Given the description of an element on the screen output the (x, y) to click on. 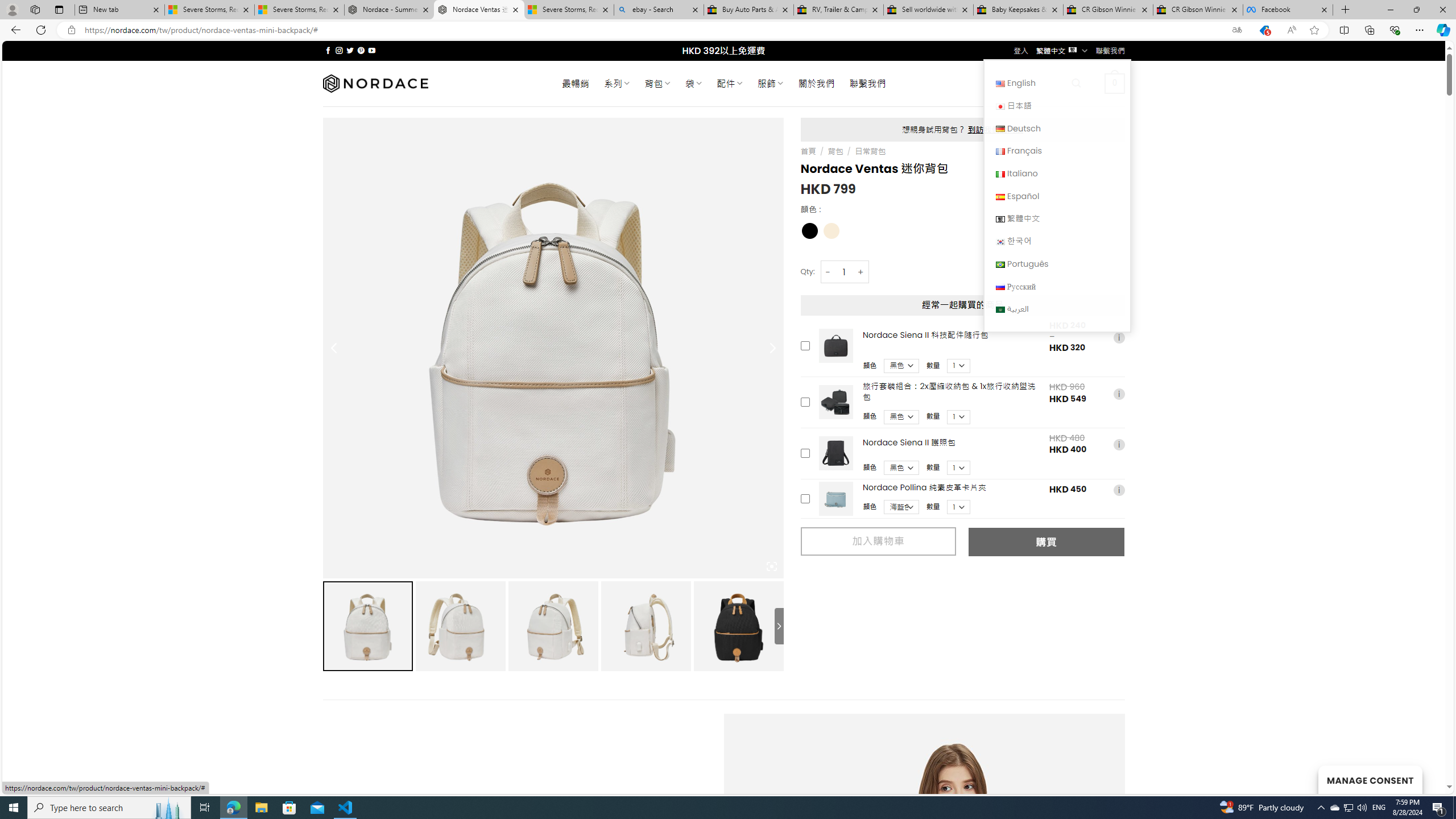
 0  (1115, 83)
